Given the description of an element on the screen output the (x, y) to click on. 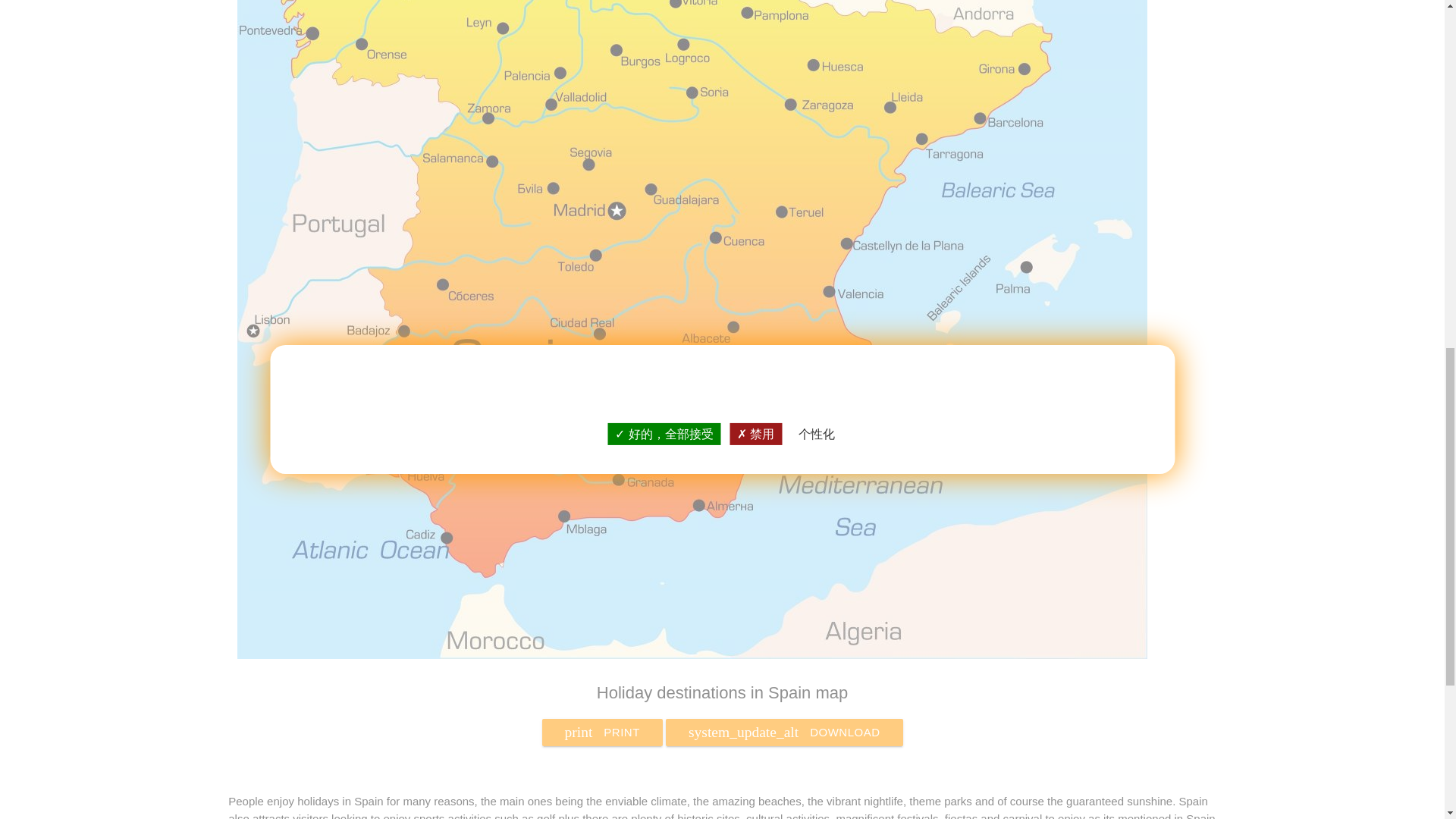
Spain holiday destinations map to print (601, 732)
holiday destinations in Spain map (691, 654)
Spain holiday destinations map to download (601, 732)
